Given the description of an element on the screen output the (x, y) to click on. 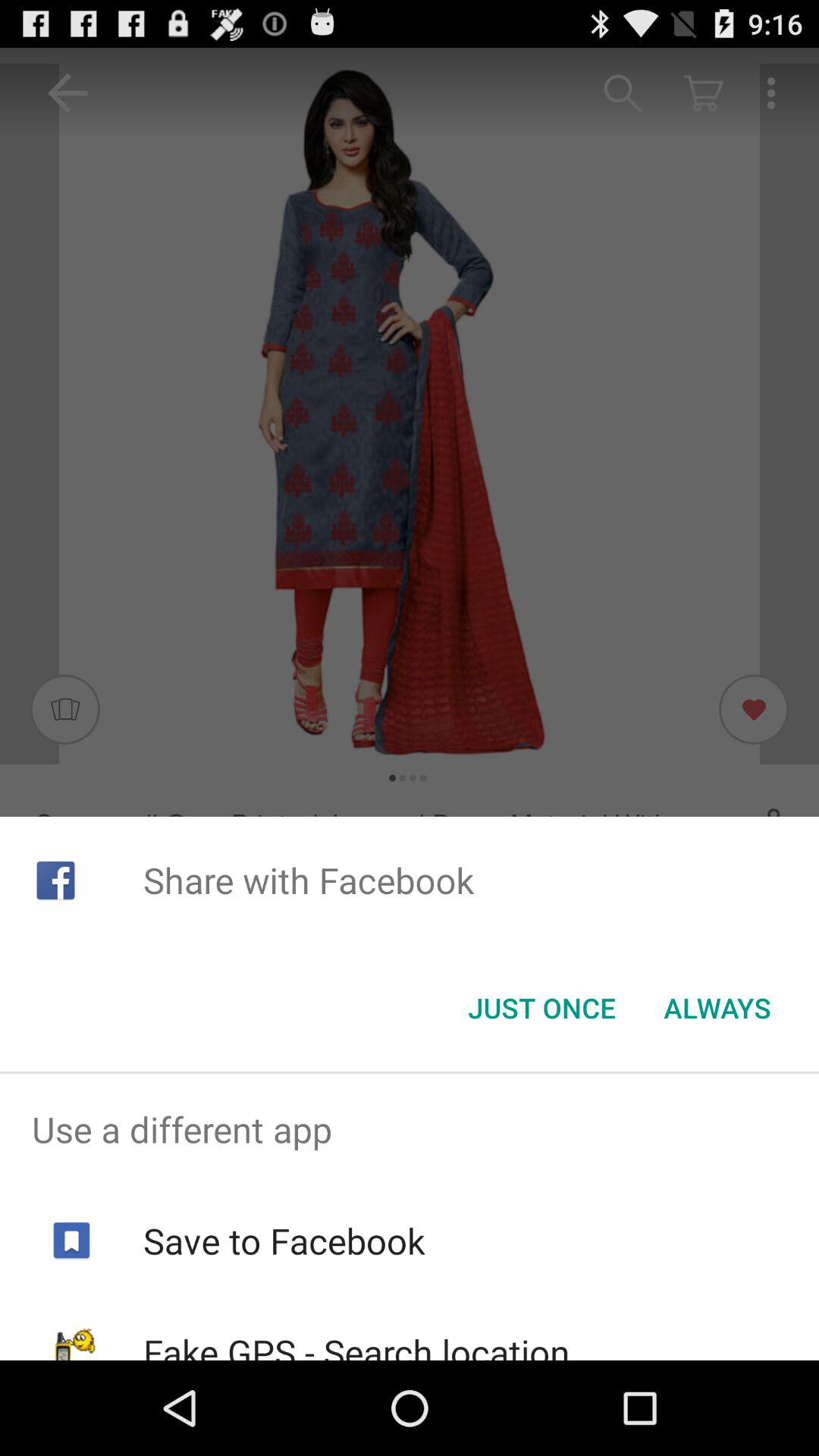
launch button next to the always (541, 1007)
